Given the description of an element on the screen output the (x, y) to click on. 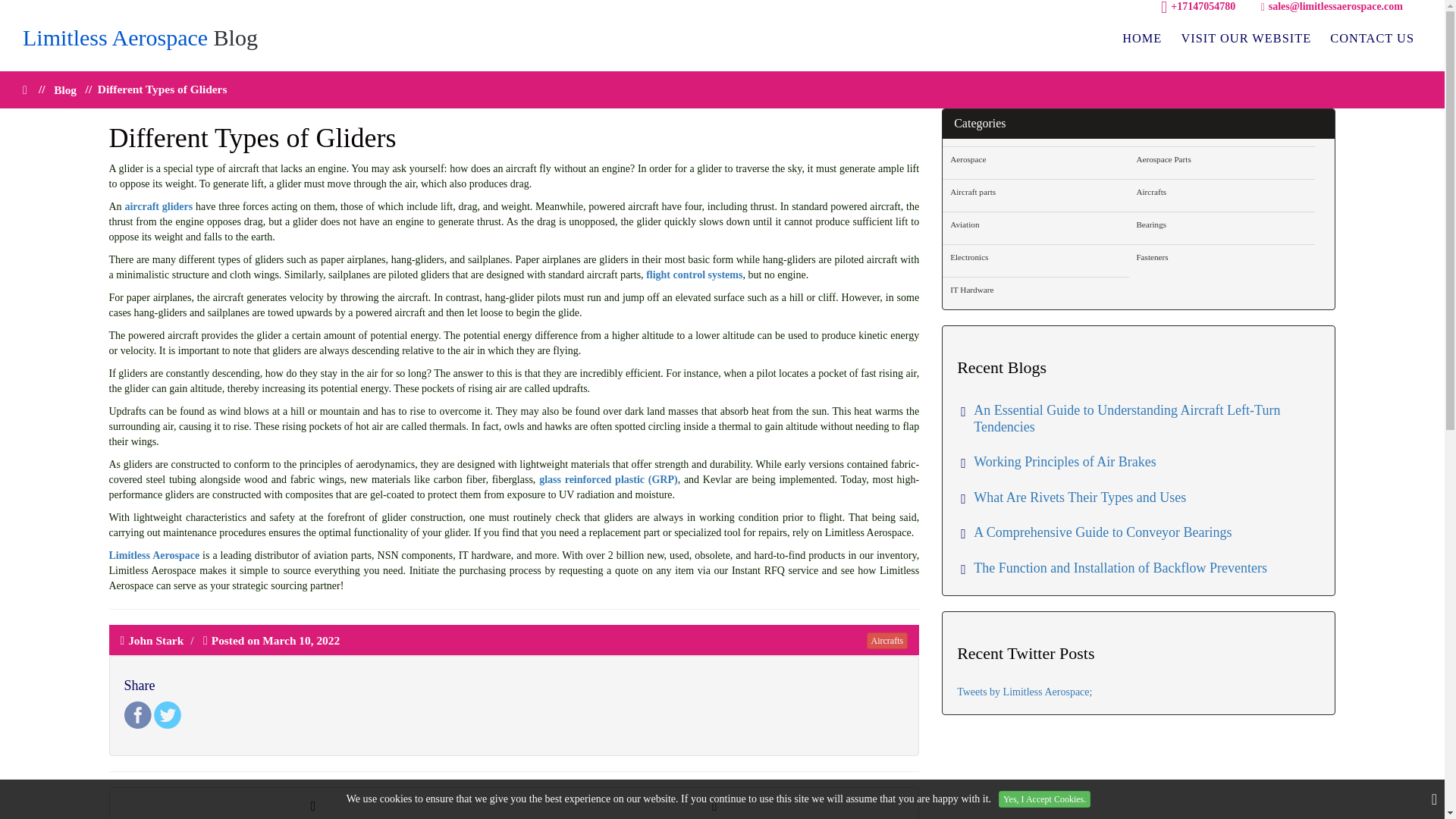
Aircrafts (886, 640)
flight control systems (694, 274)
Limitless Aerospace Blog (140, 37)
aircraft gliders (157, 206)
Aerospace Parts (1221, 158)
Aerospace (1035, 158)
The Function and Installation of Backflow Preventers (1113, 568)
IT Hardware (1035, 289)
Aircrafts (1221, 191)
A Comprehensive Guide to Conveyor Bearings (1095, 532)
Tweets by Limitless Aerospace; (1024, 691)
VISIT OUR WEBSITE (1246, 38)
Blog (65, 89)
Working Principles of Air Brakes (1058, 462)
